Given the description of an element on the screen output the (x, y) to click on. 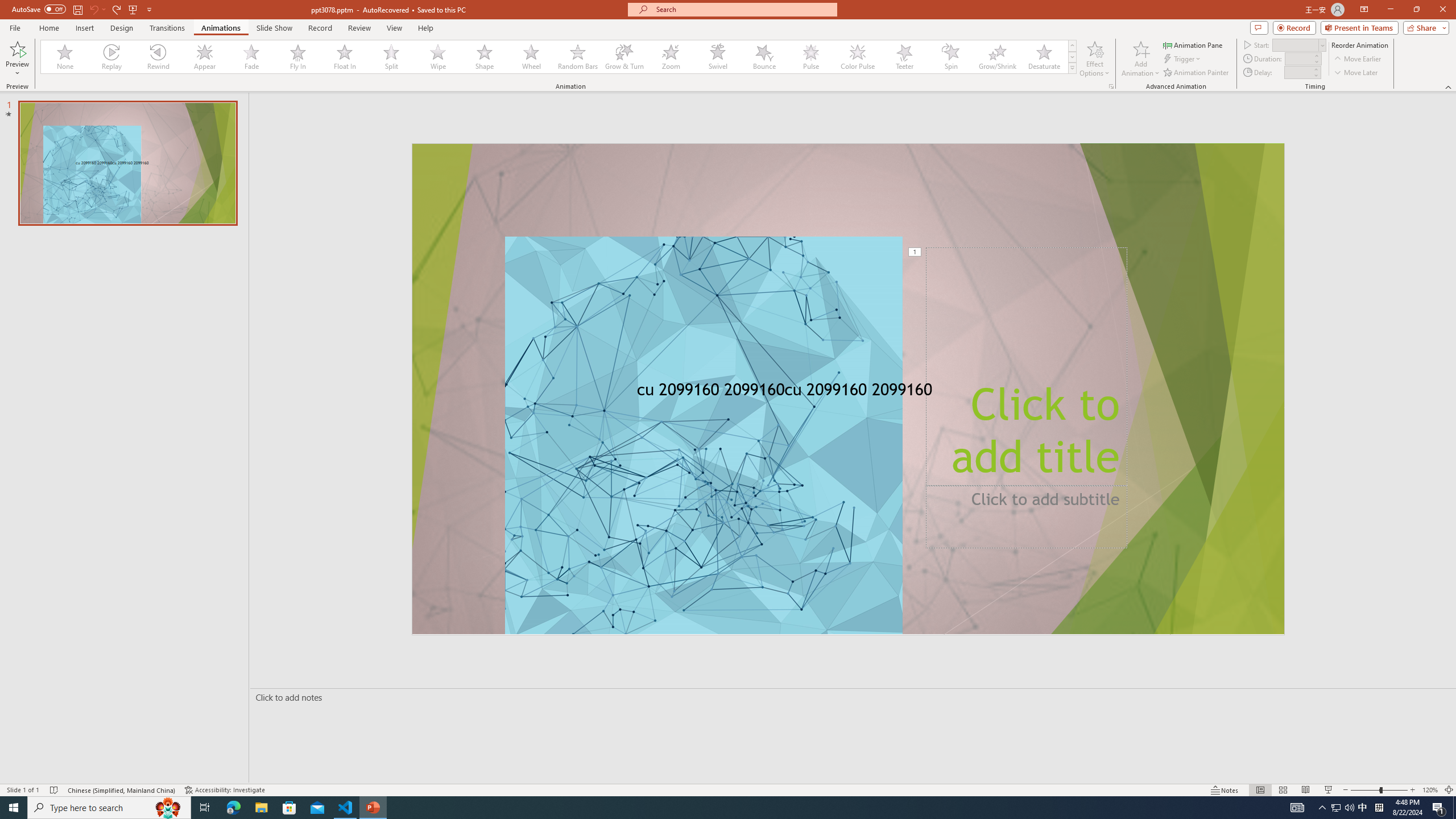
Random Bars (577, 56)
Zoom 120% (1430, 790)
Animation Delay (1297, 72)
Rewind (158, 56)
Move Later (1355, 72)
